Given the description of an element on the screen output the (x, y) to click on. 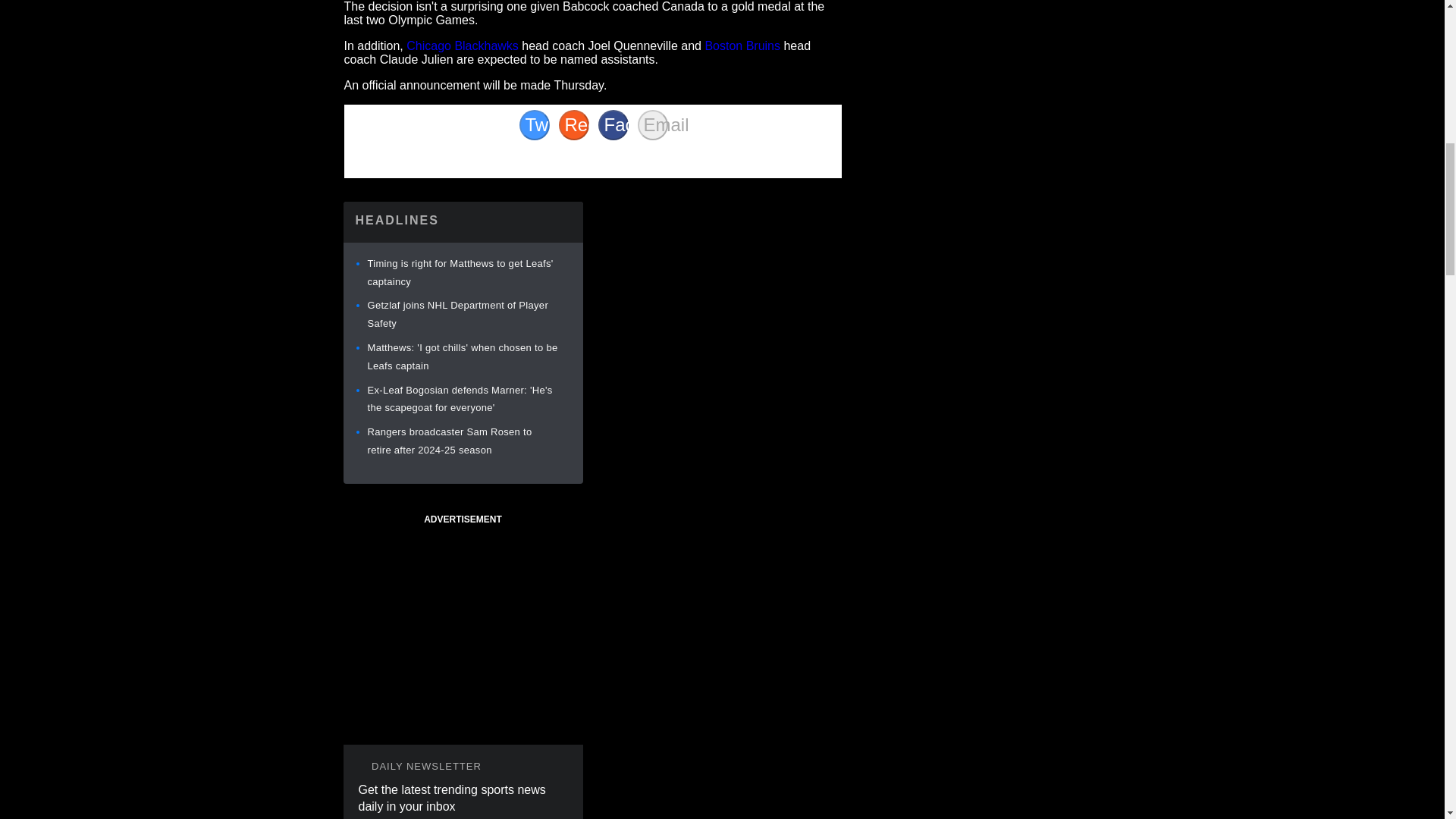
Matthews: 'I got chills' when chosen to be Leafs captain (461, 356)
Getzlaf joins NHL Department of Player Safety (457, 314)
Timing is right for Matthews to get Leafs' captaincy (459, 272)
Reddit (572, 124)
Chicago Blackhawks (462, 45)
Facebook (611, 124)
Boston Bruins (742, 45)
Rangers broadcaster Sam Rosen to retire after 2024-25 season (448, 440)
Twitter (533, 124)
